Given the description of an element on the screen output the (x, y) to click on. 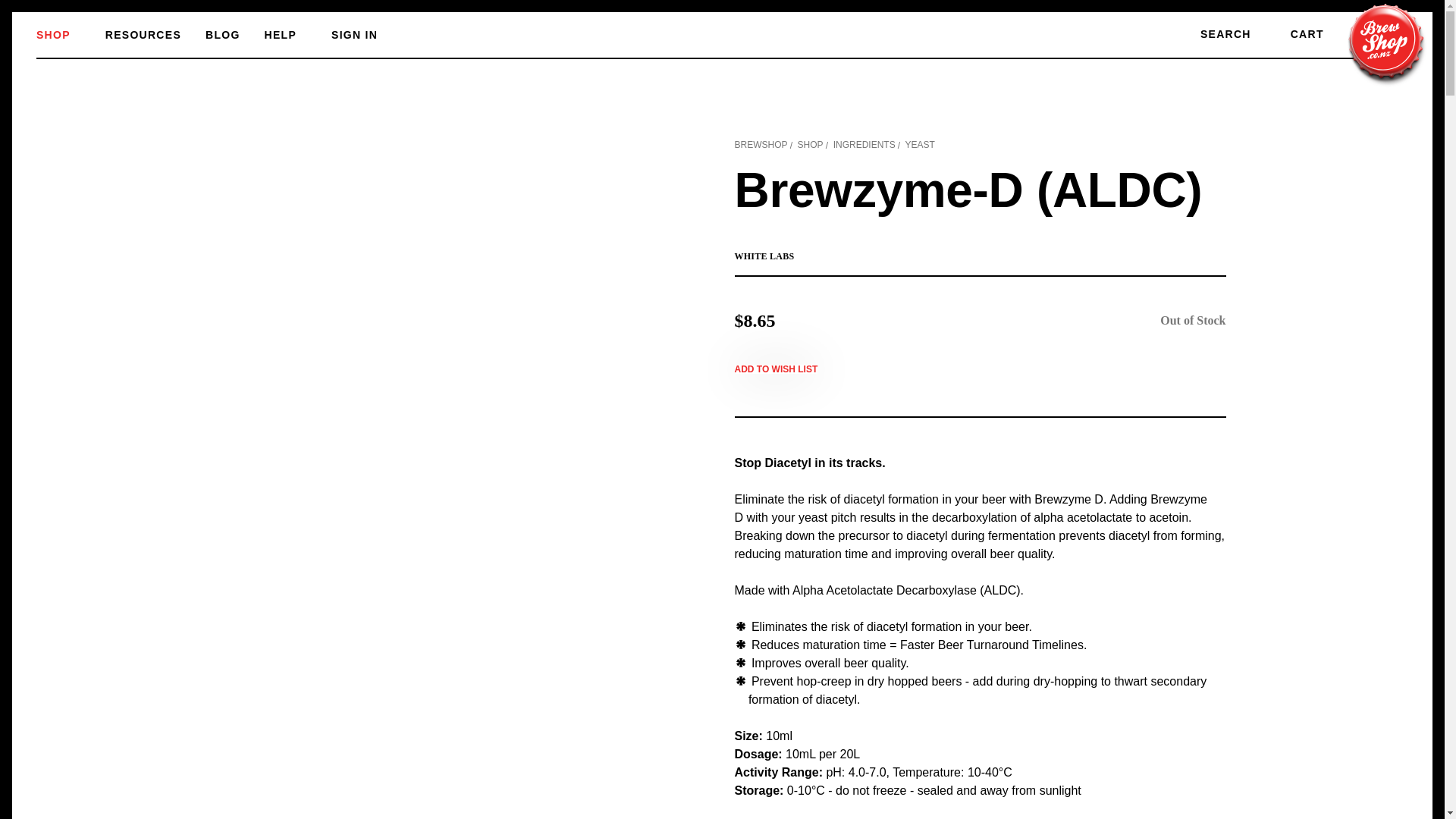
HELP (297, 35)
BLOG (234, 35)
SHOP (70, 35)
RESOURCES (154, 35)
SIGN IN (366, 35)
